Given the description of an element on the screen output the (x, y) to click on. 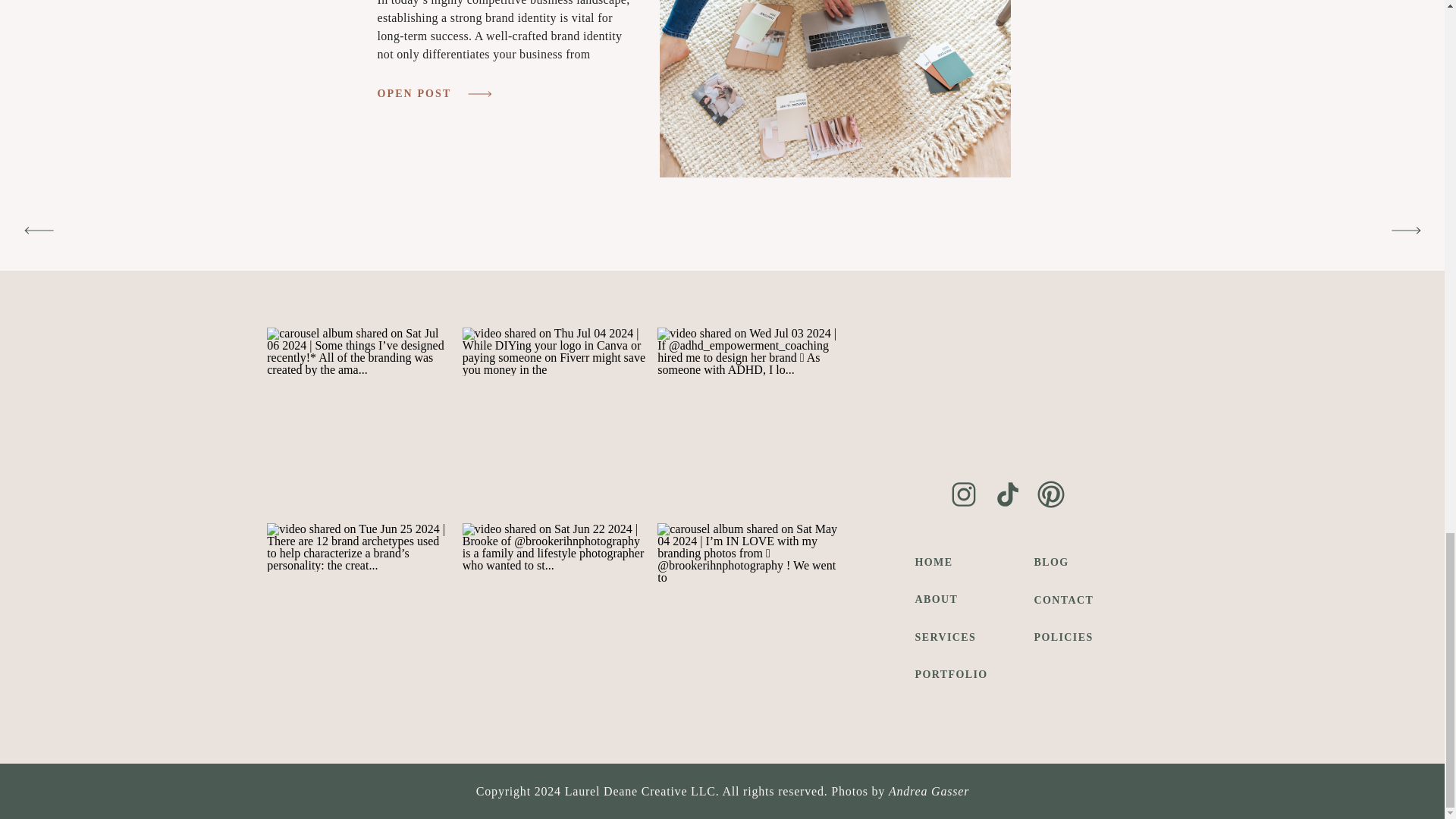
PORTFOLIO (957, 674)
HOME (957, 561)
OPEN POST (420, 93)
BLOG (1066, 561)
CONTACT (1066, 599)
POLICIES (1066, 637)
ABOUT (957, 599)
SERVICES (957, 637)
